Given the description of an element on the screen output the (x, y) to click on. 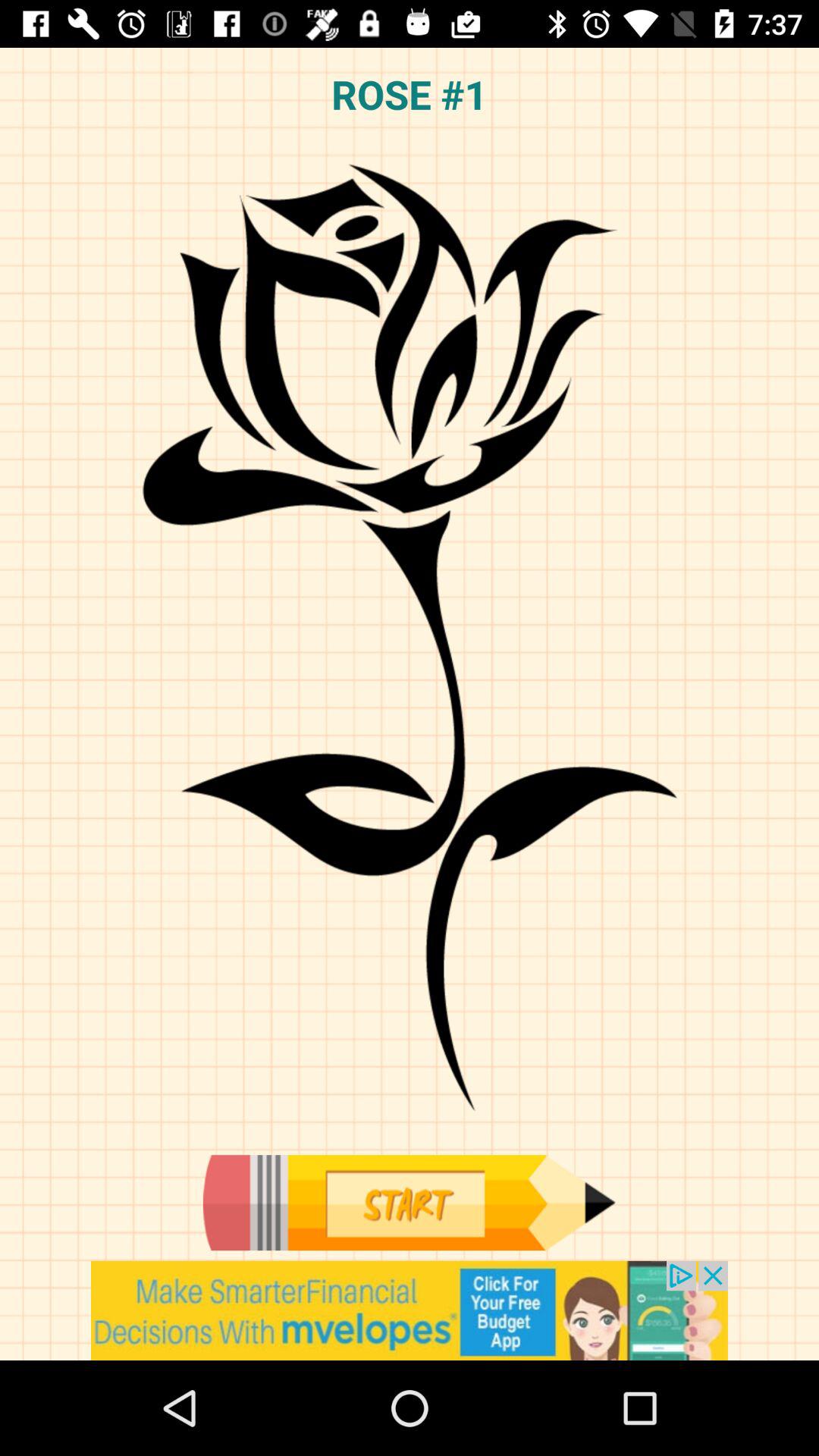
start the process (409, 1202)
